Given the description of an element on the screen output the (x, y) to click on. 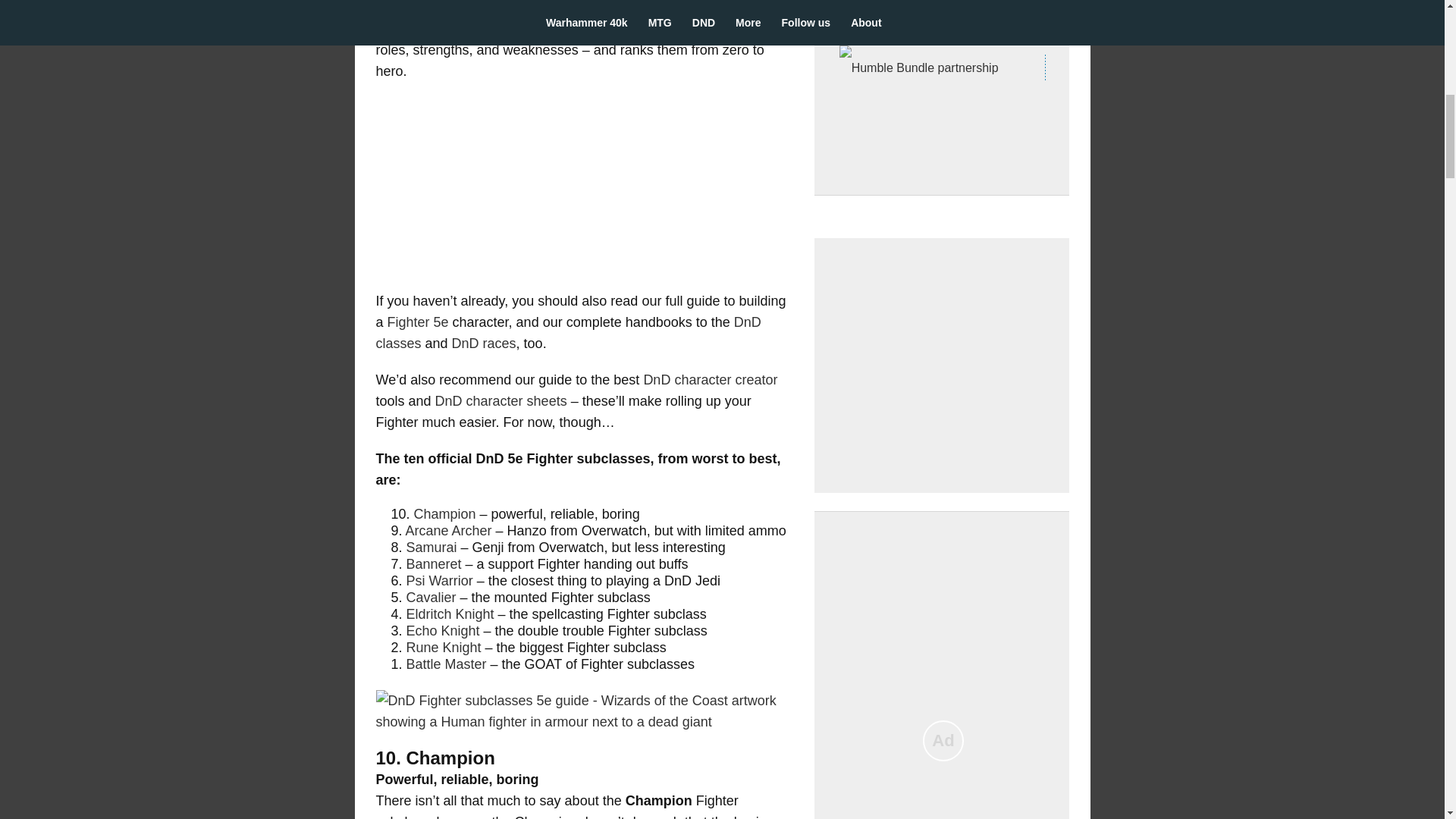
dnd-fighter-subclasses-5e-lone-fighter (584, 711)
DnD races (483, 343)
DnD classes (568, 332)
Fighter 5e (417, 322)
